Given the description of an element on the screen output the (x, y) to click on. 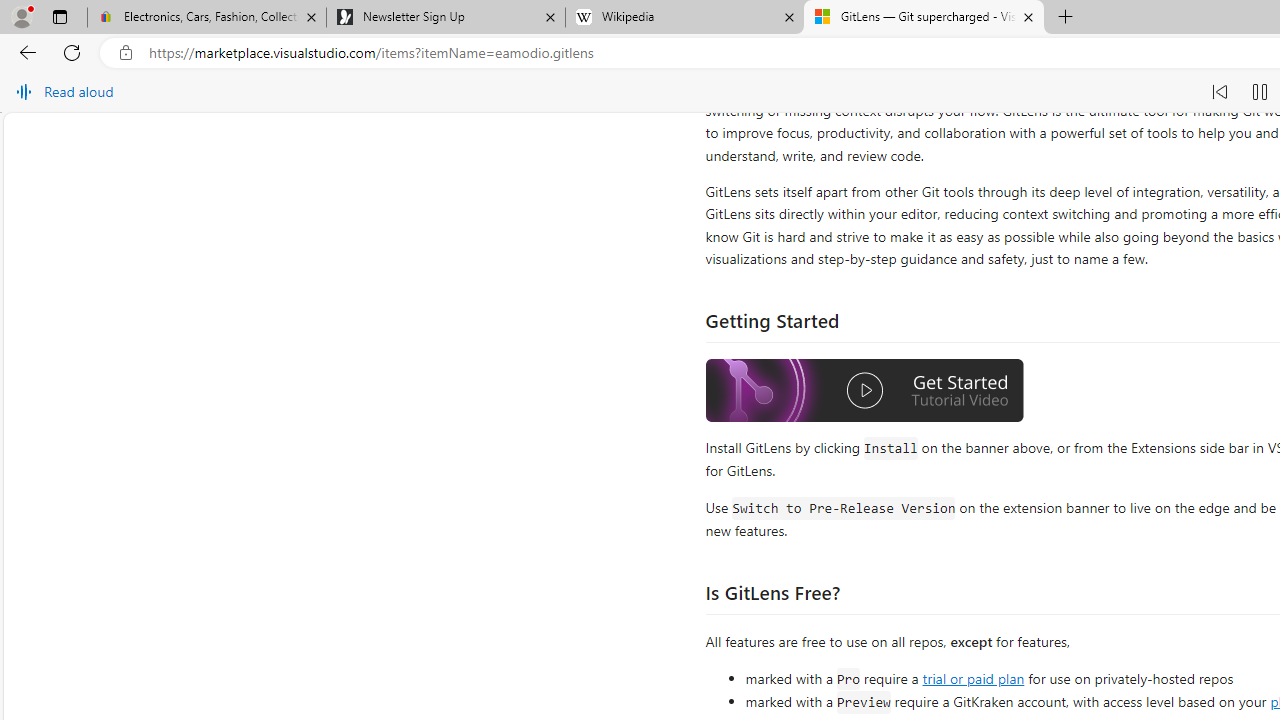
open-source (876, 378)
Newsletter Sign Up (445, 17)
Wikipedia (684, 17)
Overview (742, 204)
Visual Studio Code (1061, 378)
